Given the description of an element on the screen output the (x, y) to click on. 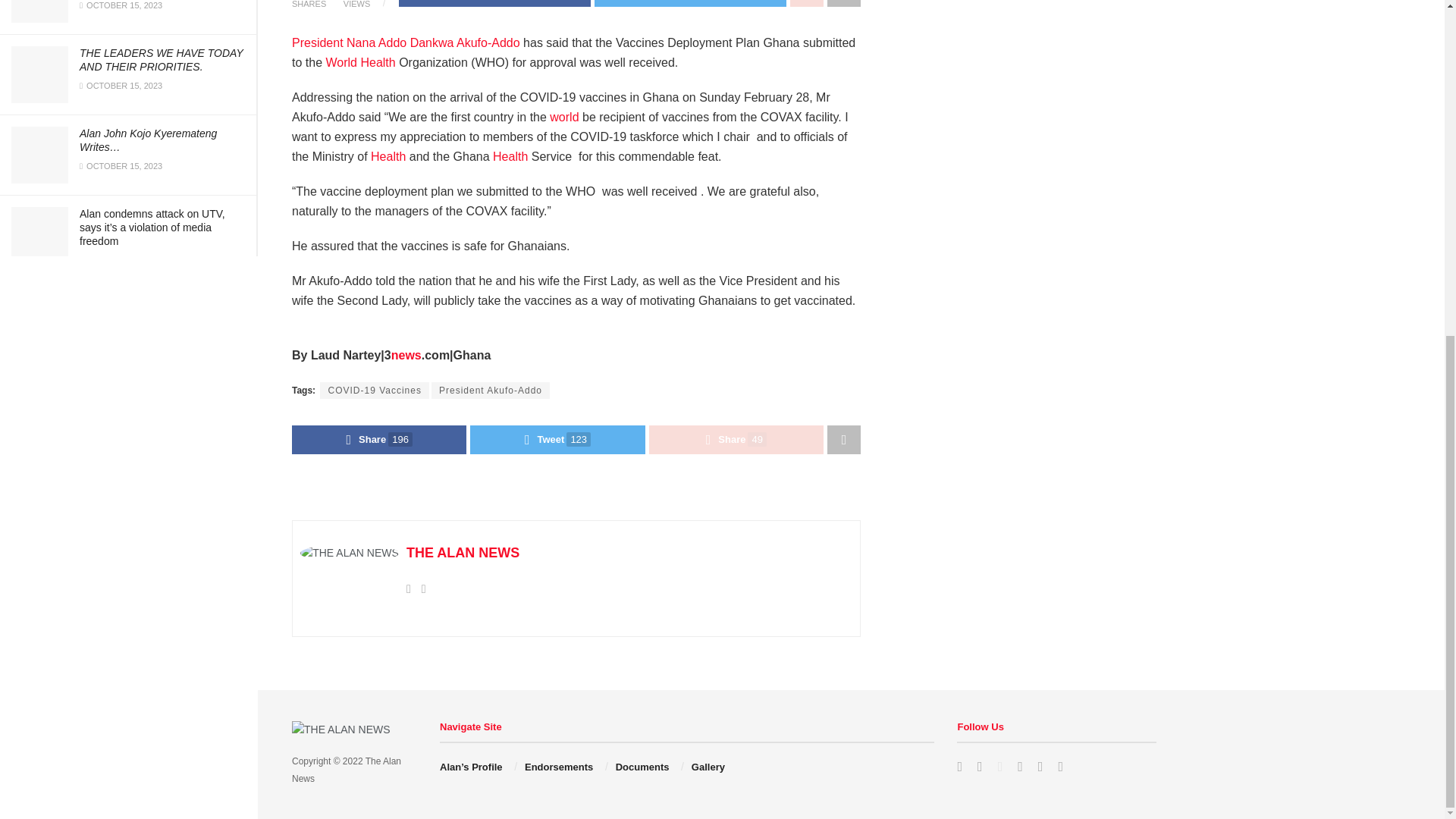
THE LEADERS WE HAVE TODAY AND THEIR PRIORITIES. (161, 59)
